Given the description of an element on the screen output the (x, y) to click on. 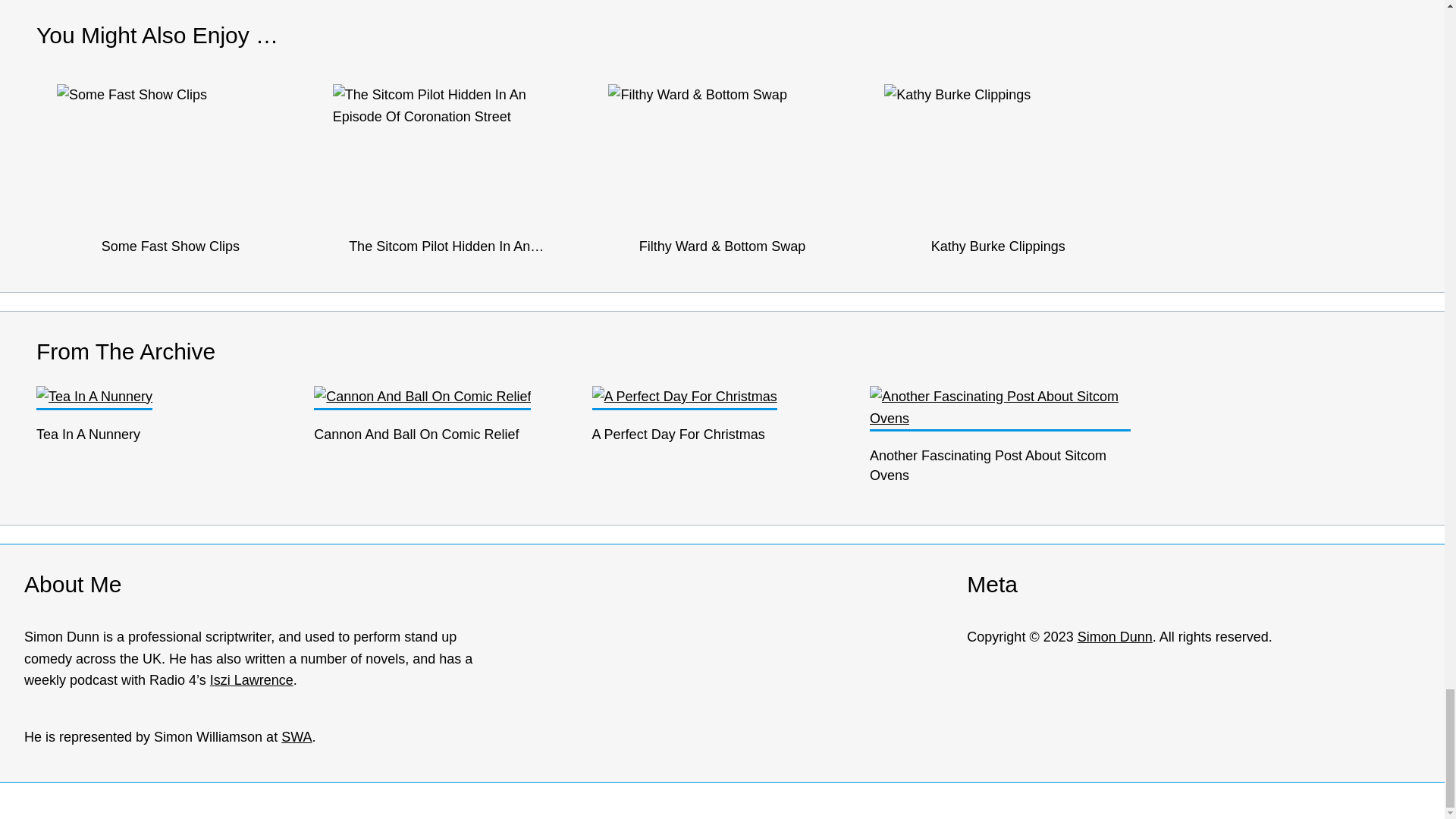
The Sitcom Pilot Hidden In An Episode Of Coronation Street (446, 148)
Some Fast Show Clips (169, 148)
Kathy Burke Clippings (997, 148)
